Given the description of an element on the screen output the (x, y) to click on. 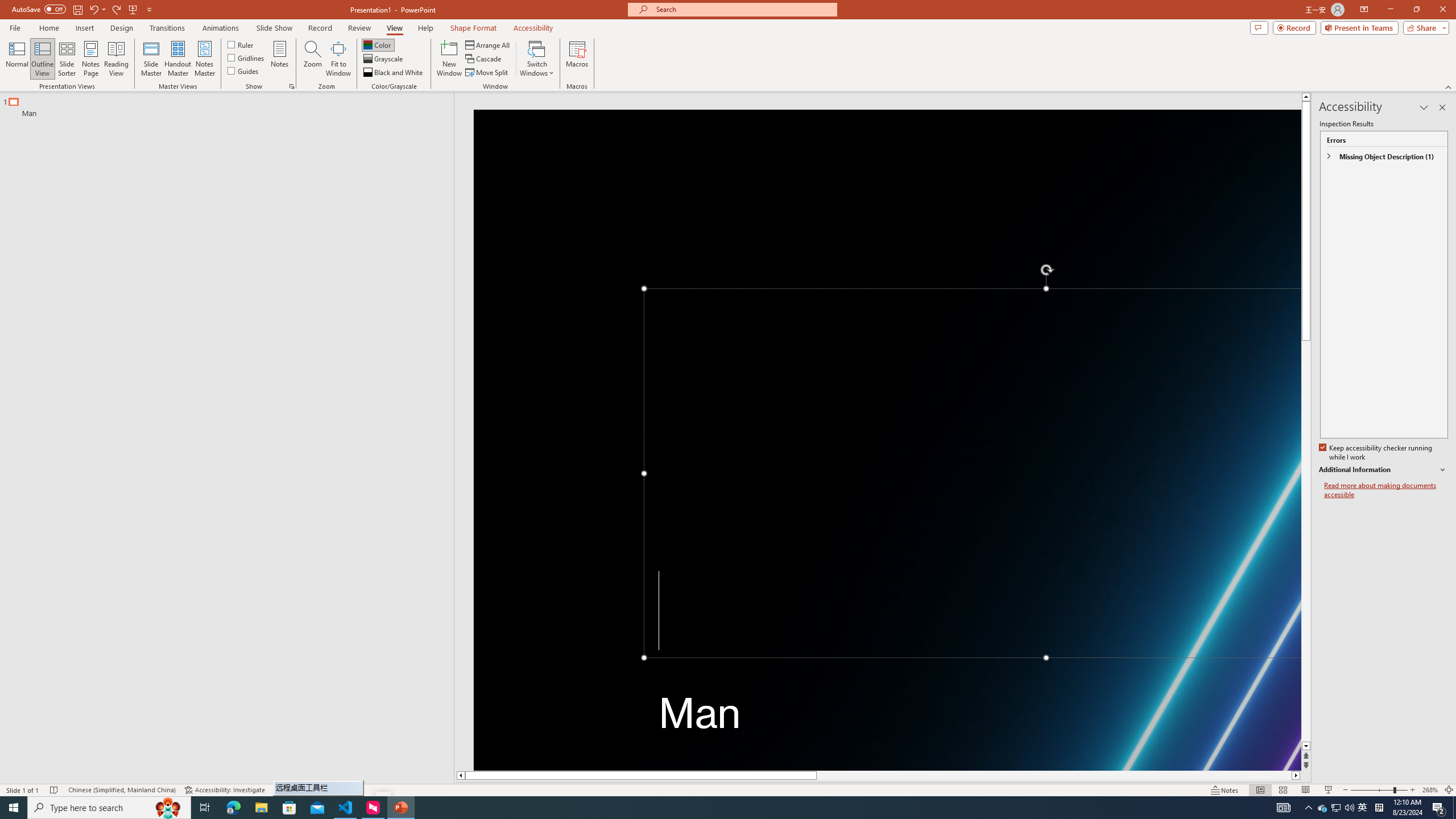
Switch Windows (537, 58)
Zoom... (312, 58)
Handout Master (177, 58)
Zoom 268% (1430, 790)
